Given the description of an element on the screen output the (x, y) to click on. 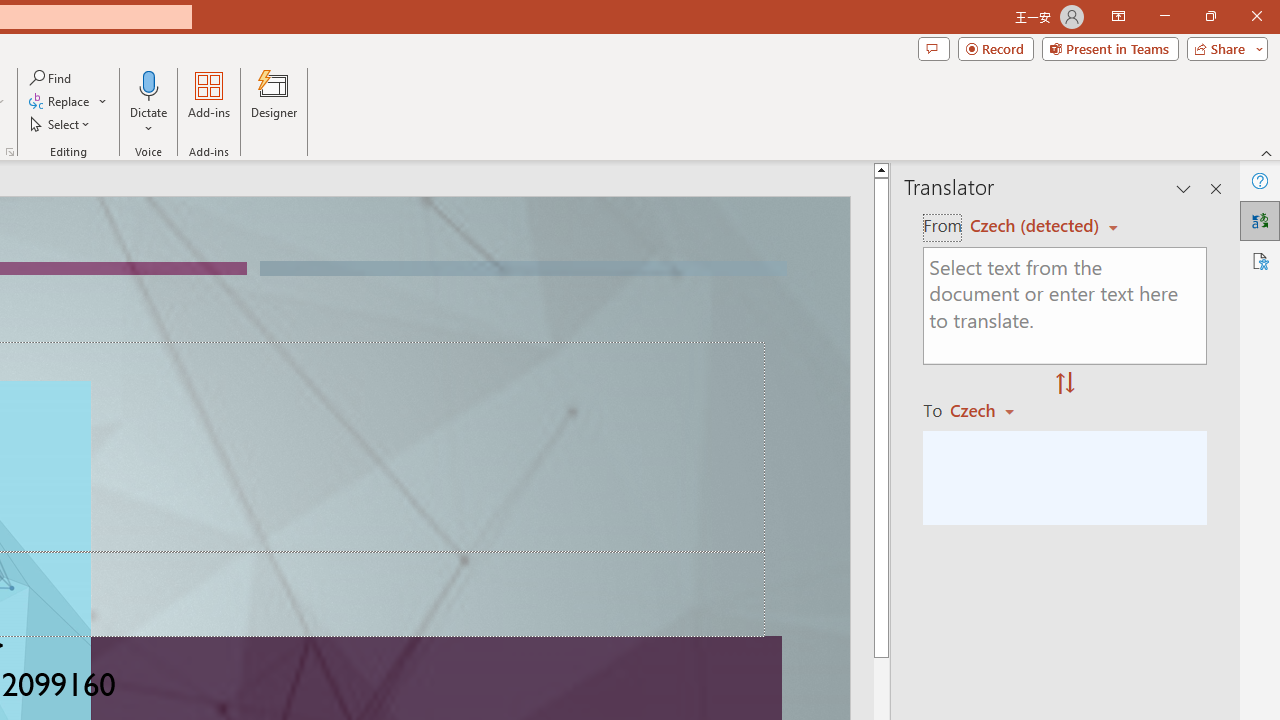
Dictate (149, 84)
Translator (1260, 220)
Task Pane Options (1183, 188)
Replace... (60, 101)
Replace... (68, 101)
Select (61, 124)
Czech (991, 409)
Accessibility (1260, 260)
